Given the description of an element on the screen output the (x, y) to click on. 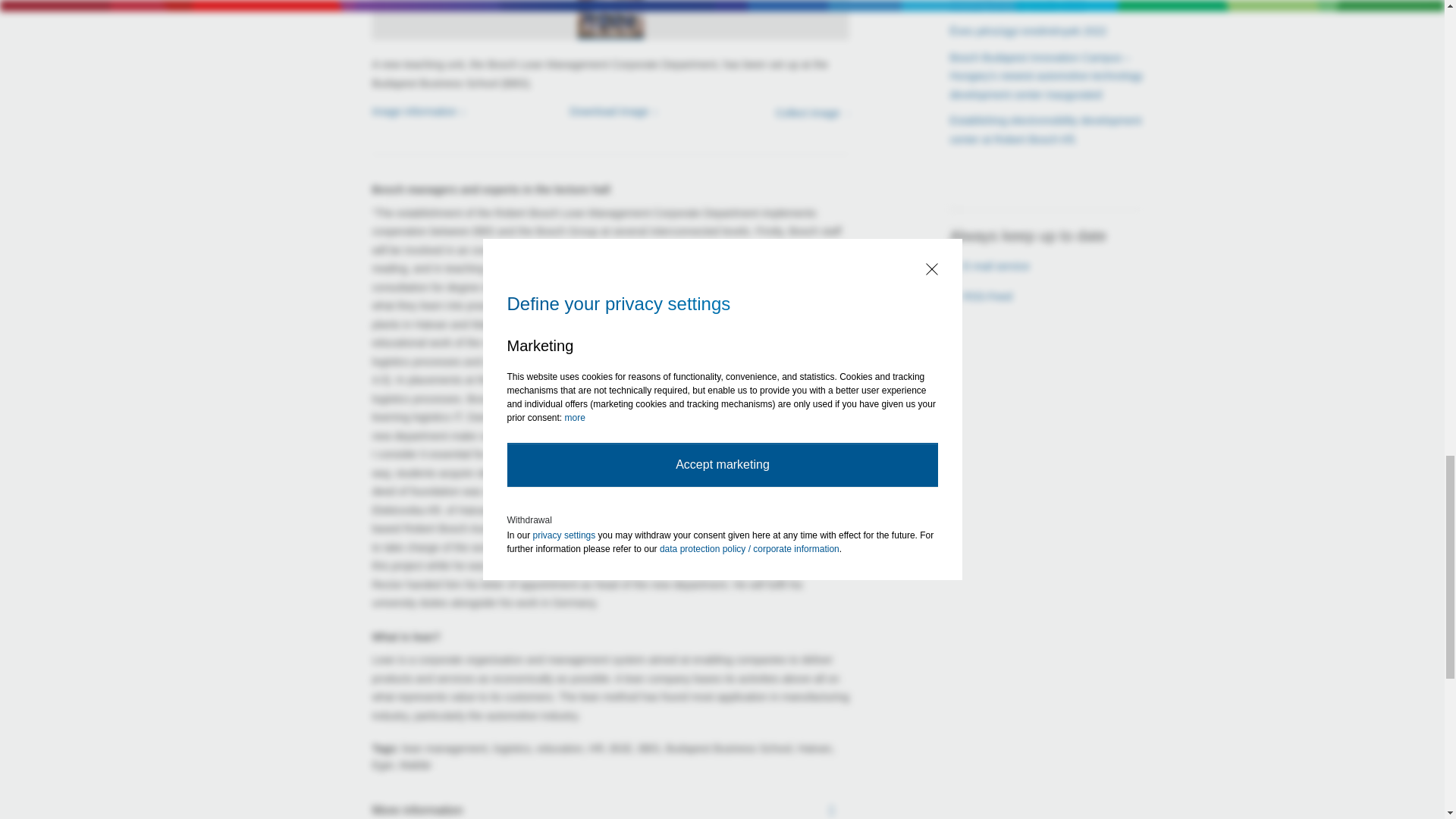
More information (609, 809)
Collect image (774, 120)
Image information (415, 111)
Download image (609, 111)
